Given the description of an element on the screen output the (x, y) to click on. 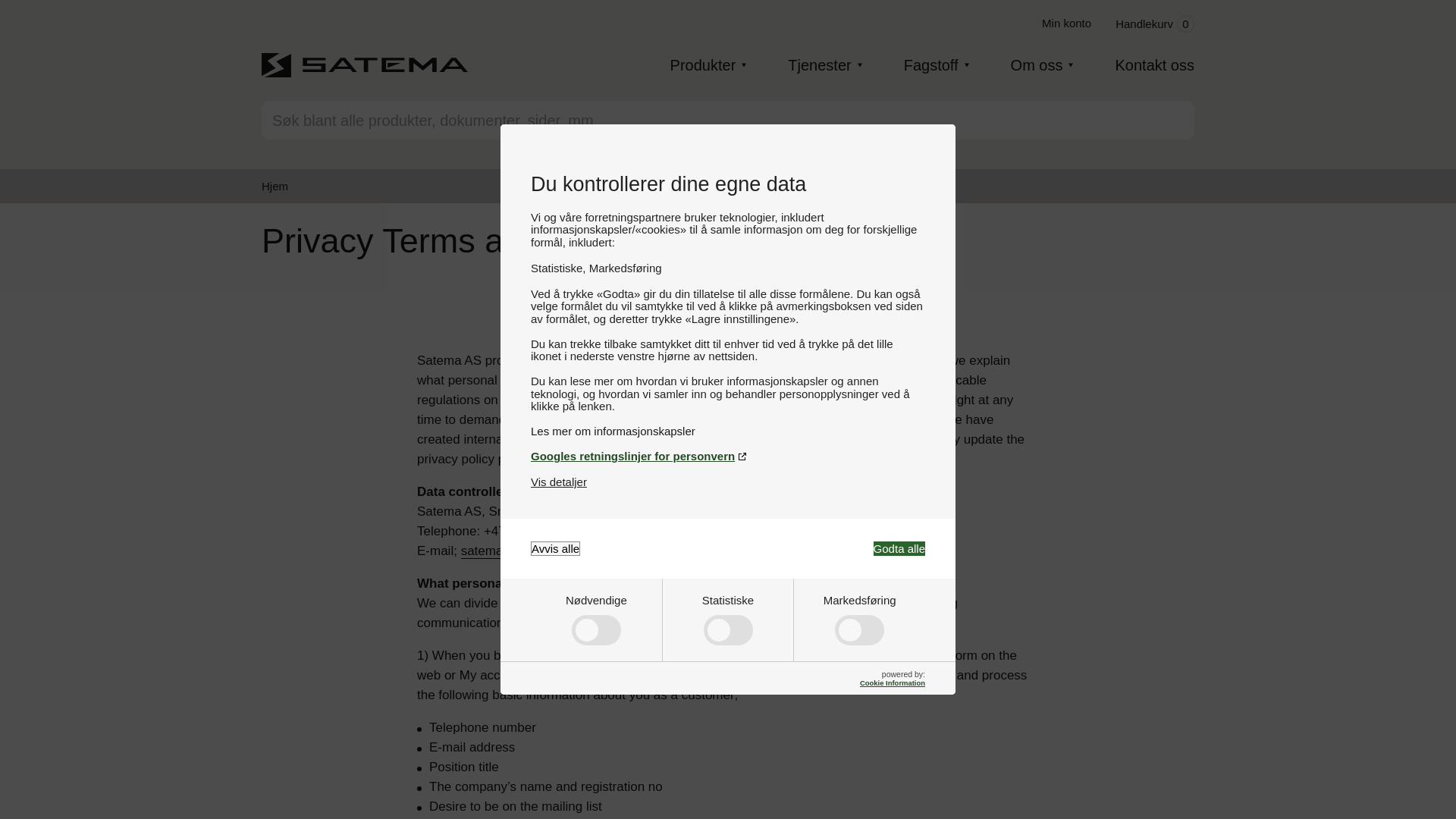
Min konto (1154, 23)
Godta alle (1066, 23)
Googles retningslinjer for personvern (898, 548)
Vis detaljer (727, 455)
Les mer om informasjonskapsler (558, 481)
Avvis alle (727, 431)
Cookie Information (555, 548)
